Given the description of an element on the screen output the (x, y) to click on. 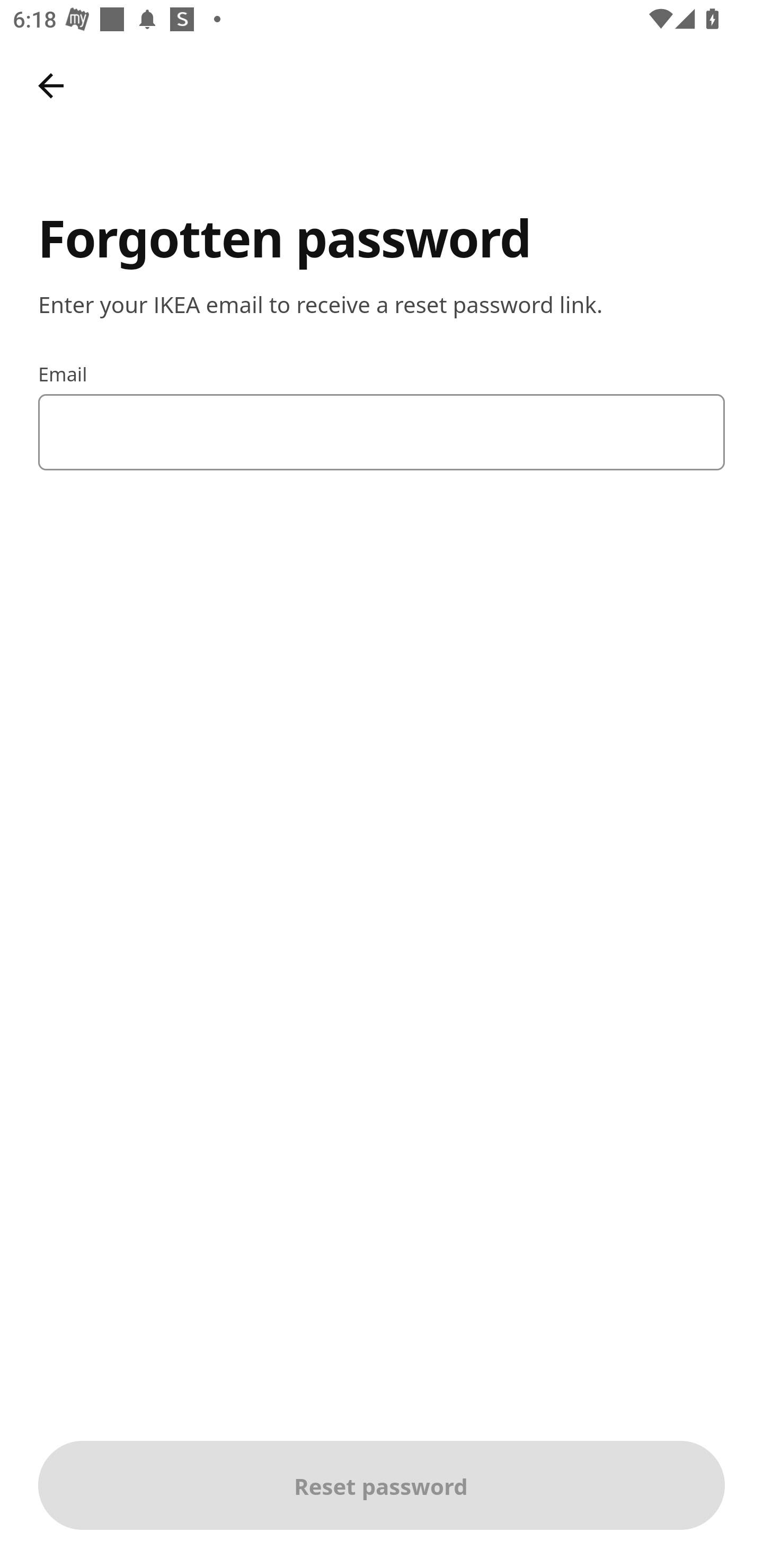
Reset password (381, 1485)
